Given the description of an element on the screen output the (x, y) to click on. 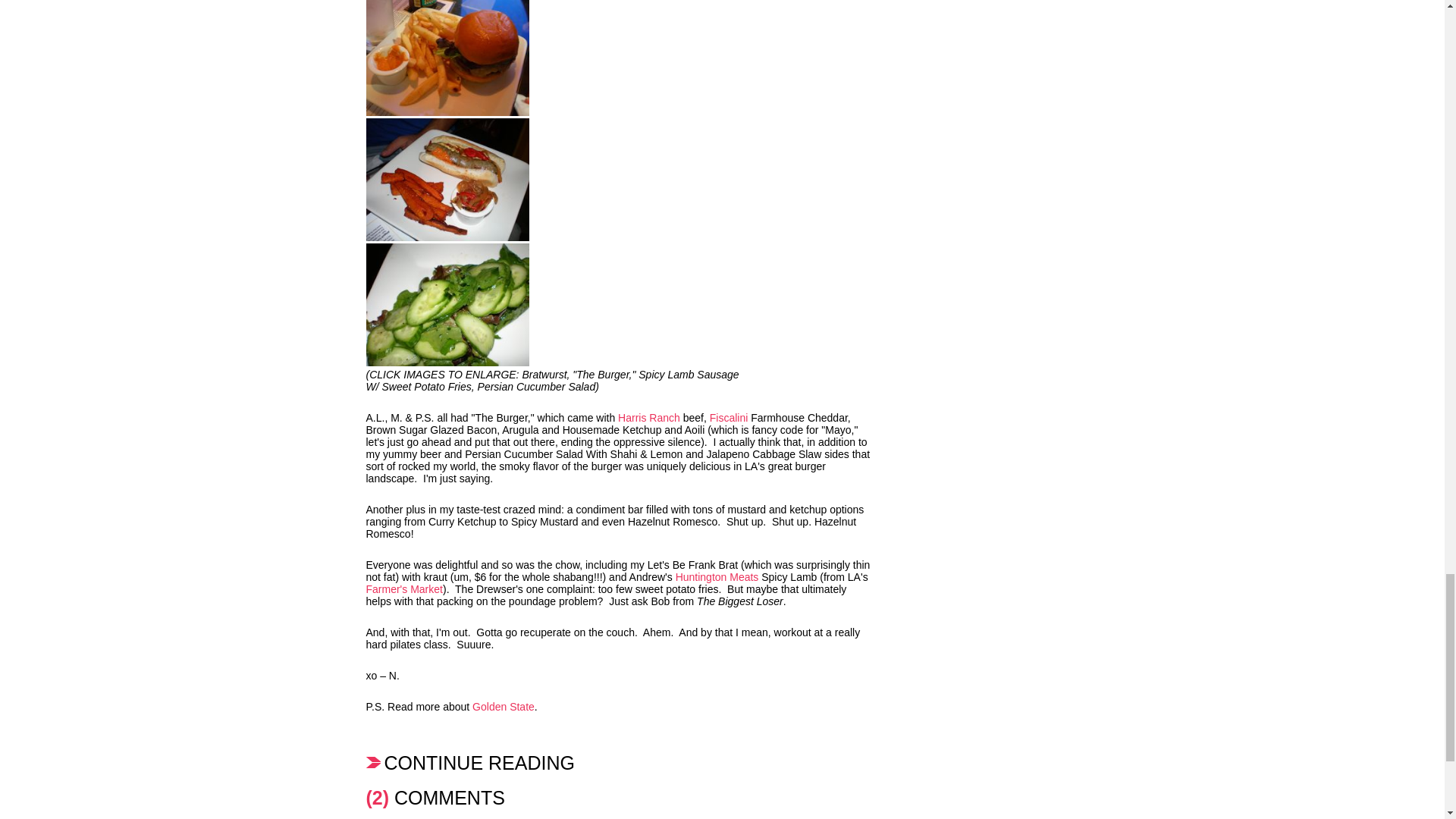
Fiscalini (729, 417)
Golden State (502, 706)
CONTINUE READING (617, 762)
Farmer's Market (403, 589)
Huntington Meats (716, 576)
Harris Ranch (648, 417)
